Given the description of an element on the screen output the (x, y) to click on. 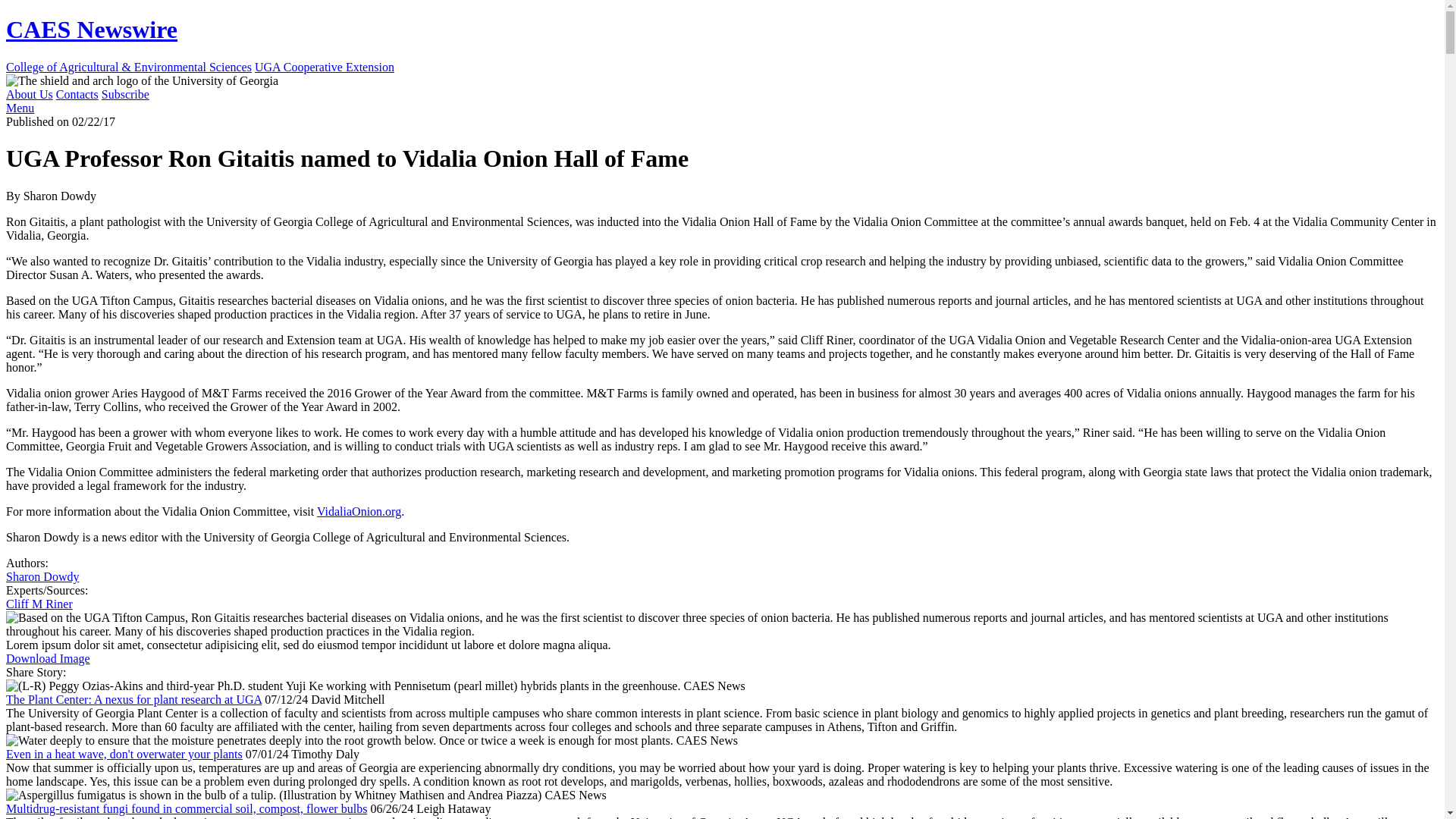
About Us (28, 93)
VidaliaOnion.org (359, 511)
Menu (19, 107)
Vidalia Onion Committee (359, 511)
Subscribe (125, 93)
Even in a heat wave, don't overwater your plants (124, 753)
Sharon Dowdy (41, 576)
The Plant Center: A nexus for plant research at UGA (133, 698)
Download Image (47, 658)
Cliff M Riner (38, 603)
UGA Cooperative Extension (324, 66)
Contacts (77, 93)
